Given the description of an element on the screen output the (x, y) to click on. 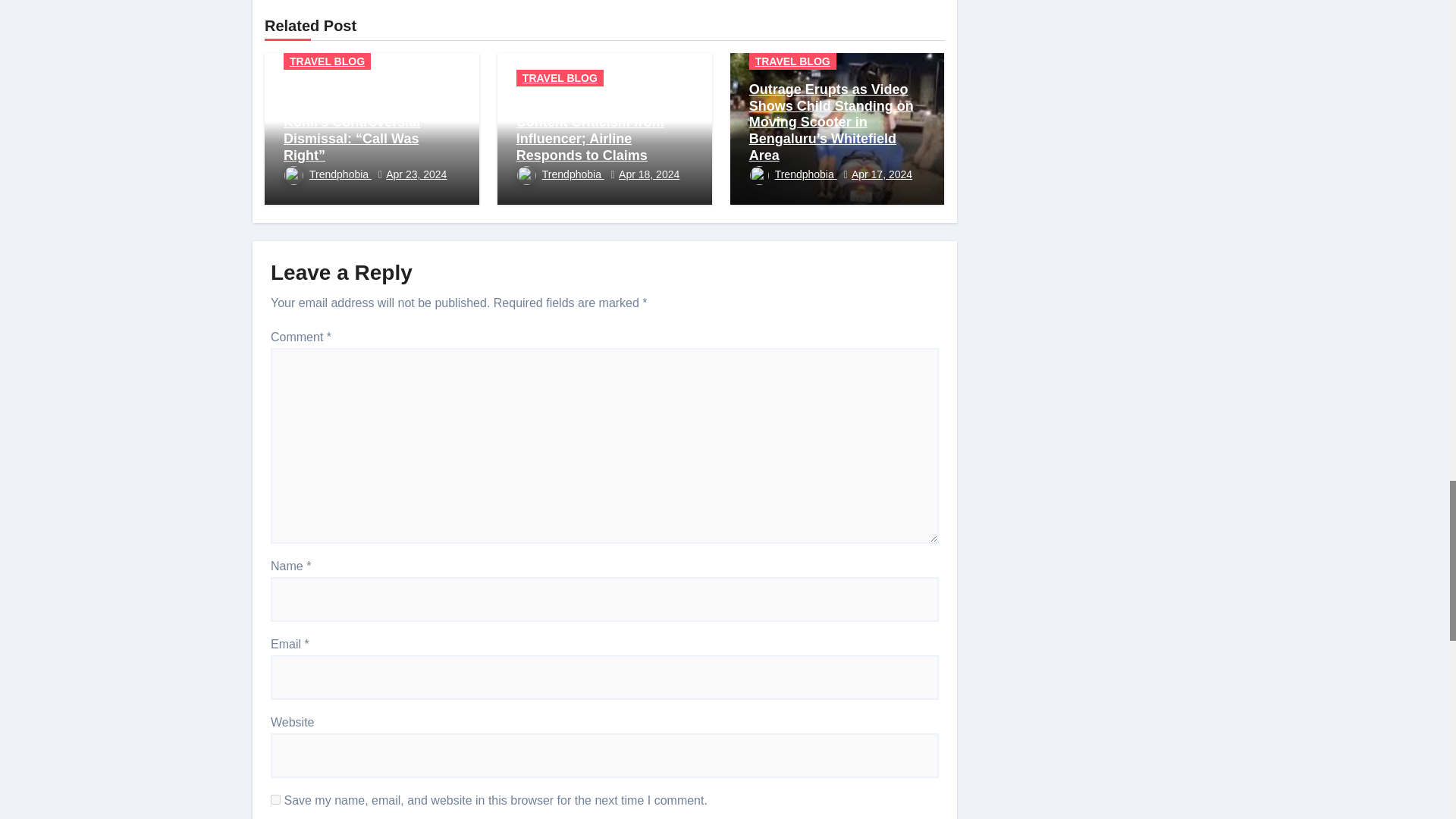
TRAVEL BLOG (327, 61)
yes (275, 799)
